Given the description of an element on the screen output the (x, y) to click on. 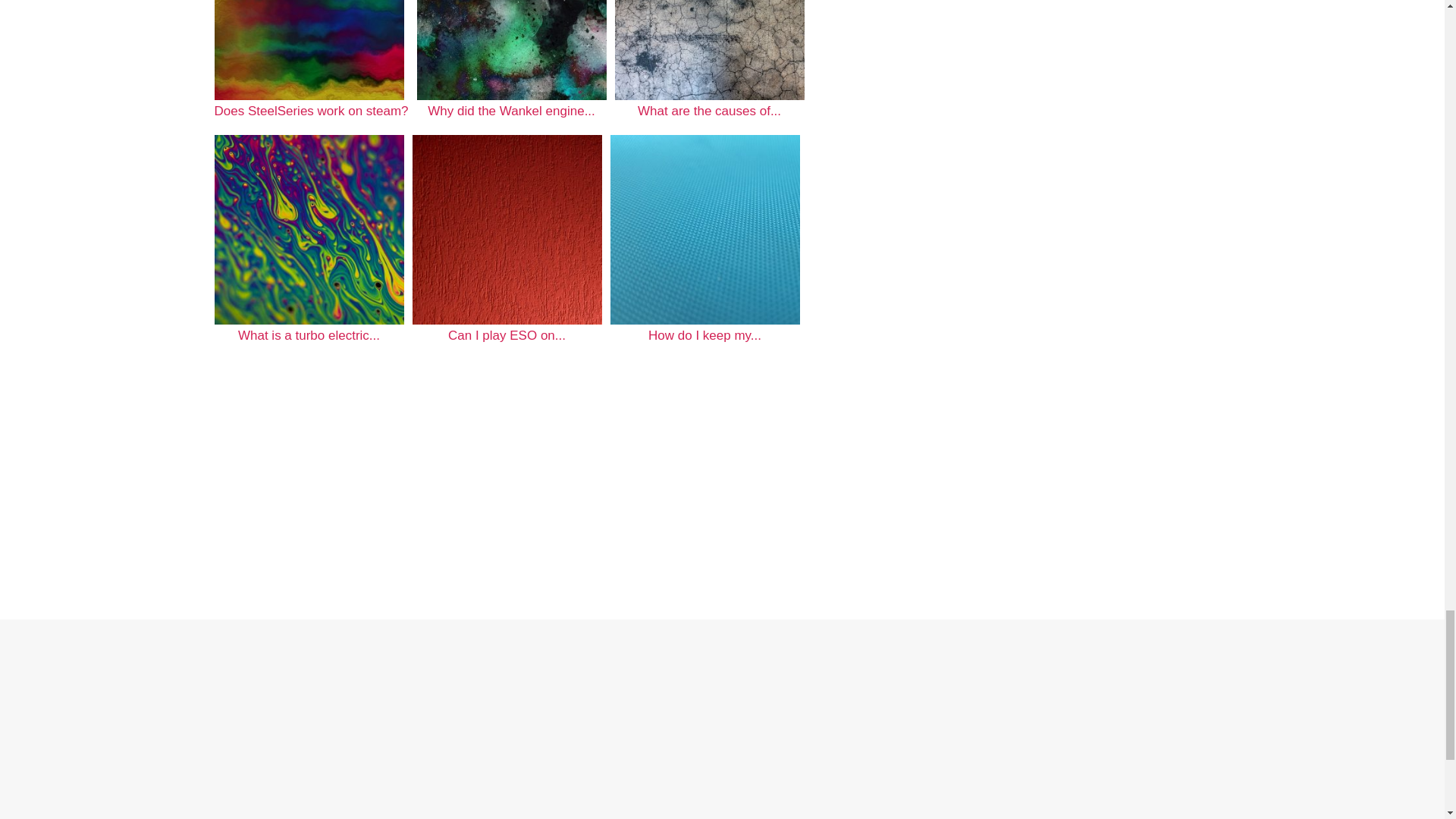
How do I keep my engine in good condition? (704, 229)
Does SteelSeries work on steam? (310, 63)
Can I play ESO on Steam? (507, 229)
What is a turbo electric engine? (308, 229)
What are the causes of overheating in an engine? (709, 49)
Does SteelSeries work on steam? (308, 49)
Why did the Wankel engine fail? (511, 49)
